Given the description of an element on the screen output the (x, y) to click on. 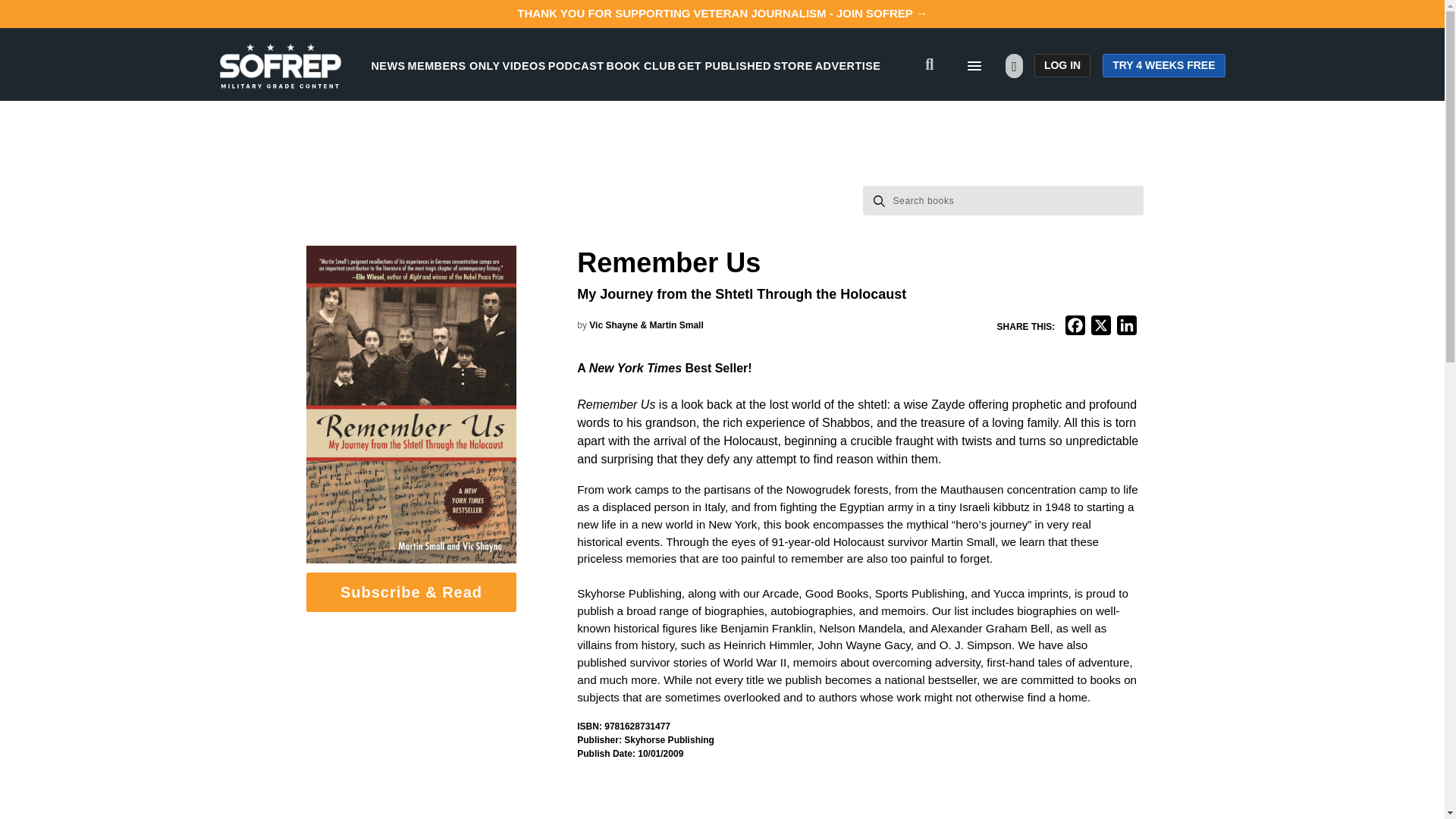
NEWS (388, 65)
MEMBERS ONLY (453, 65)
PODCAST (576, 65)
TRY 4 WEEKS FREE (1163, 65)
GET PUBLISHED (724, 65)
BOOK CLUB (641, 65)
ADVERTISE (847, 65)
VIDEOS (524, 65)
LOG IN (1061, 65)
STORE (792, 65)
